Given the description of an element on the screen output the (x, y) to click on. 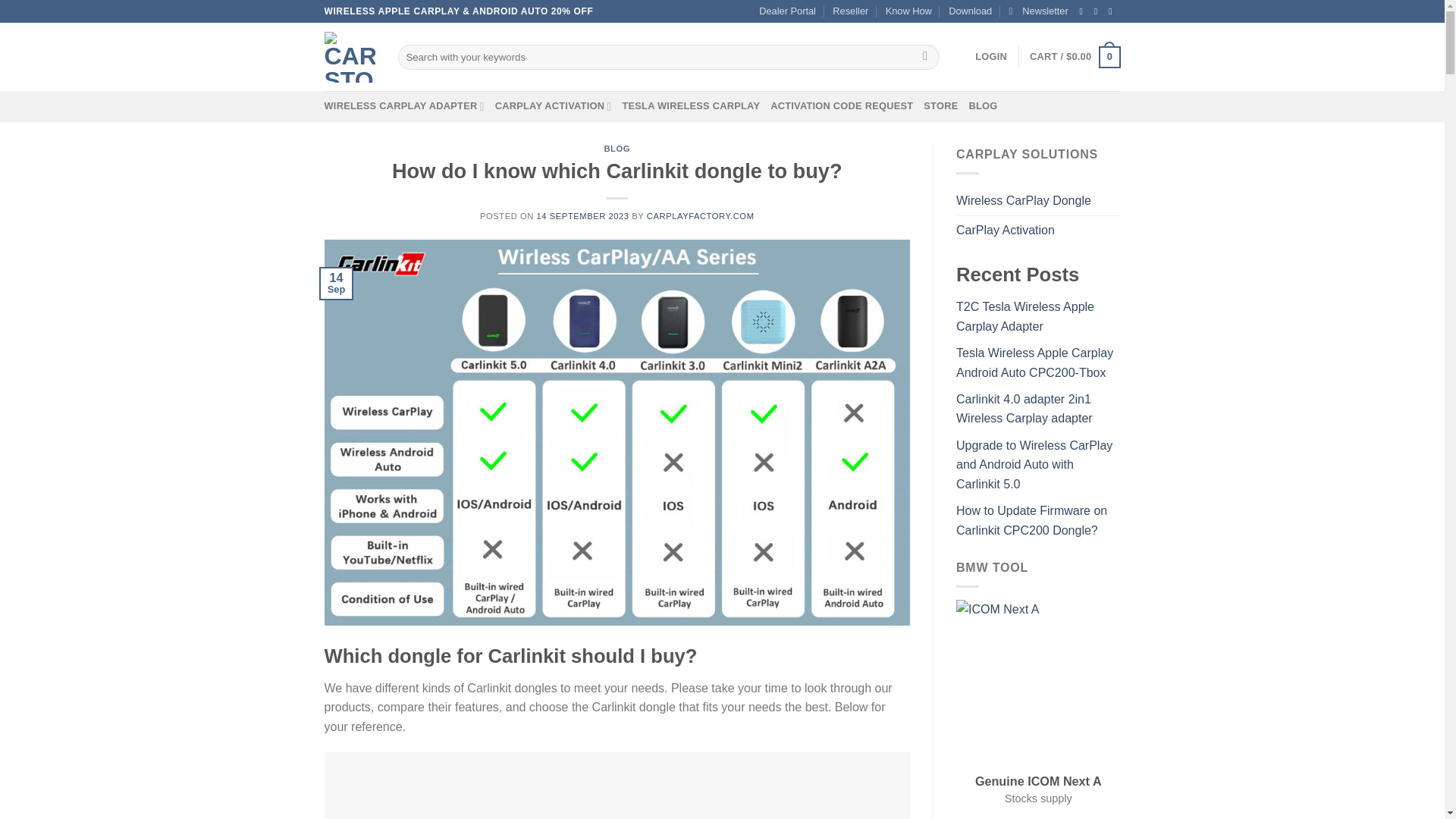
Follow on Instagram (1098, 10)
STORE (940, 105)
Newsletter (1038, 11)
Reseller (849, 11)
WIRELESS CARPLAY ADAPTER (404, 105)
Search (924, 57)
CARPLAY ACTIVATION (553, 105)
BLOG (617, 148)
BLOG (982, 105)
Cart (1074, 57)
Know How (908, 11)
ACTIVATION CODE REQUEST (841, 105)
Download (970, 11)
CarPlayFactory Store (349, 56)
Sign up for Newsletter (1038, 11)
